Given the description of an element on the screen output the (x, y) to click on. 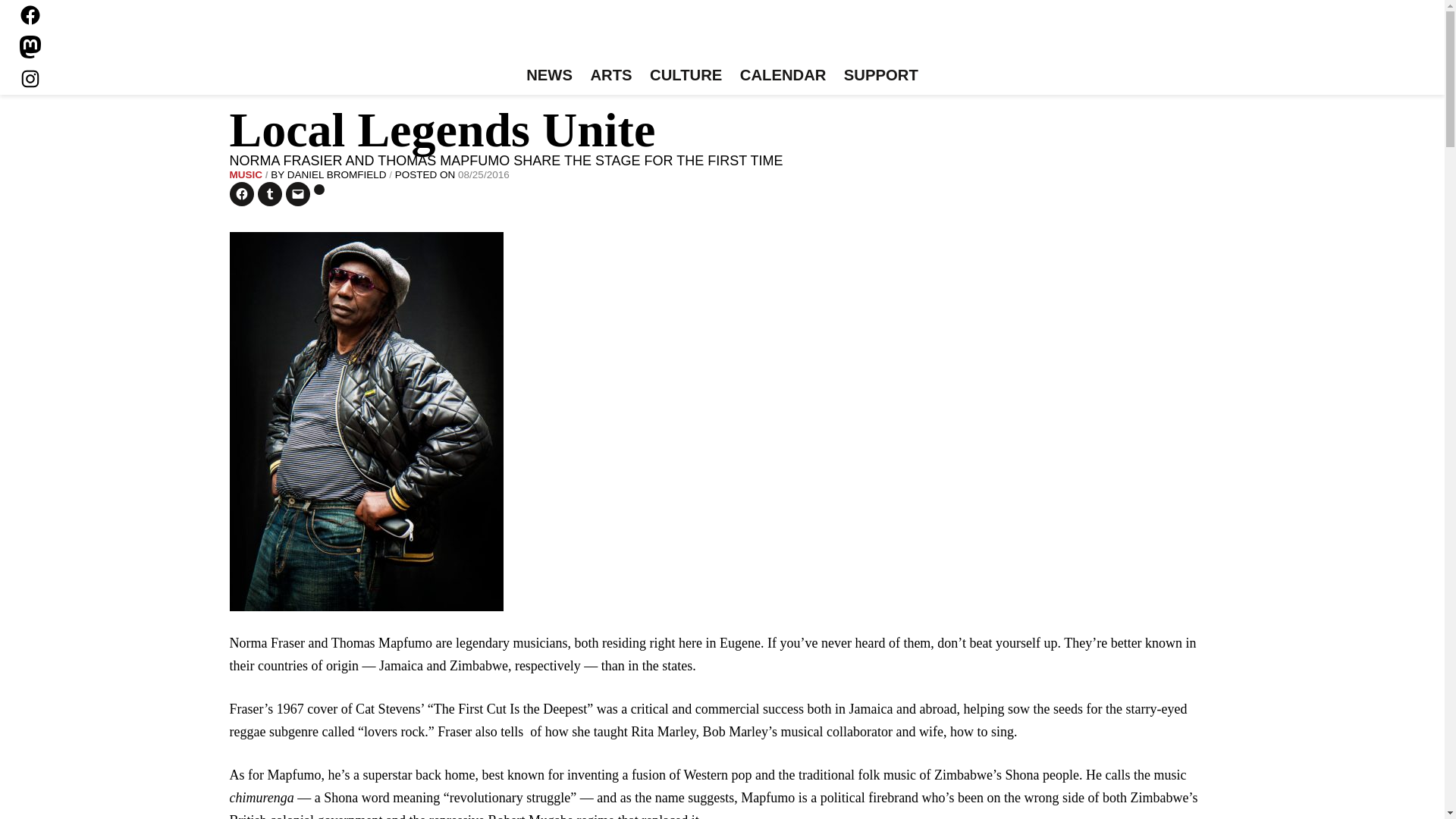
Instagram (30, 78)
CALENDAR (782, 75)
Eugene Weekly (721, 37)
Click to share on Tumblr (269, 193)
CULTURE (685, 75)
Facebook (30, 15)
Mastodon (30, 47)
Click to share on Facebook (240, 193)
Click to email a link to a friend (296, 193)
ARTS (611, 75)
Click to print (319, 189)
NEWS (548, 75)
SUPPORT (880, 75)
